Given the description of an element on the screen output the (x, y) to click on. 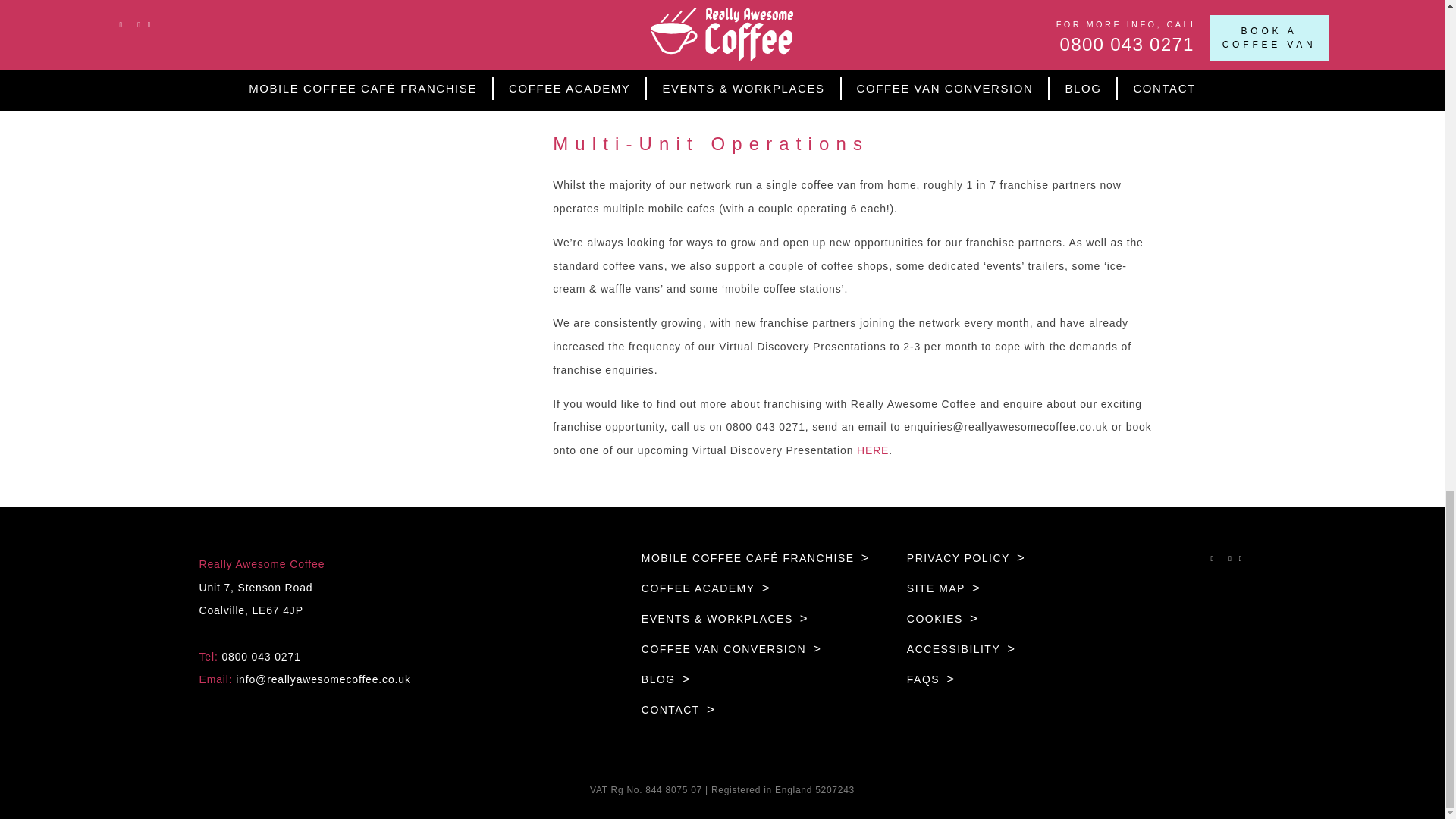
COFFEE ACADEMY (706, 588)
CONTACT (678, 709)
COFFEE VAN CONVERSION (732, 648)
PRIVACY POLICY (966, 558)
BLOG (666, 679)
SITE MAP (944, 588)
READ MORE (613, 78)
COOKIES (942, 618)
HERE (870, 450)
